Given the description of an element on the screen output the (x, y) to click on. 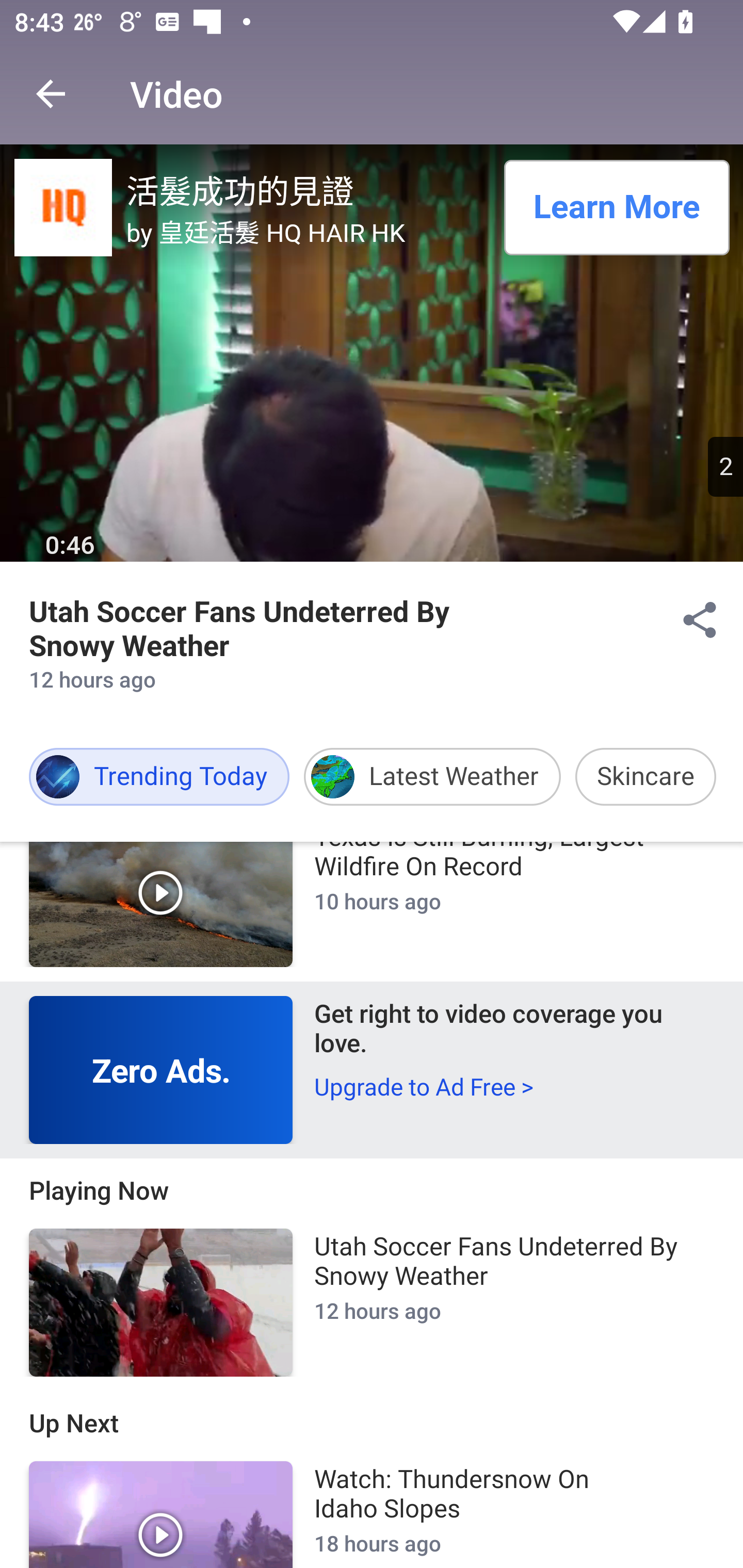
Navigate up (50, 93)
Learn More (616, 206)
活髮成功的見證 (308, 188)
by 皇廷活髮 HQ HAIR HK (308, 230)
Skip Ad Countdown (725, 466)
0:46 (70, 545)
Trending Today (158, 776)
Latest Weather (431, 776)
Skincare (645, 776)
Play (160, 904)
Play (160, 1514)
